Given the description of an element on the screen output the (x, y) to click on. 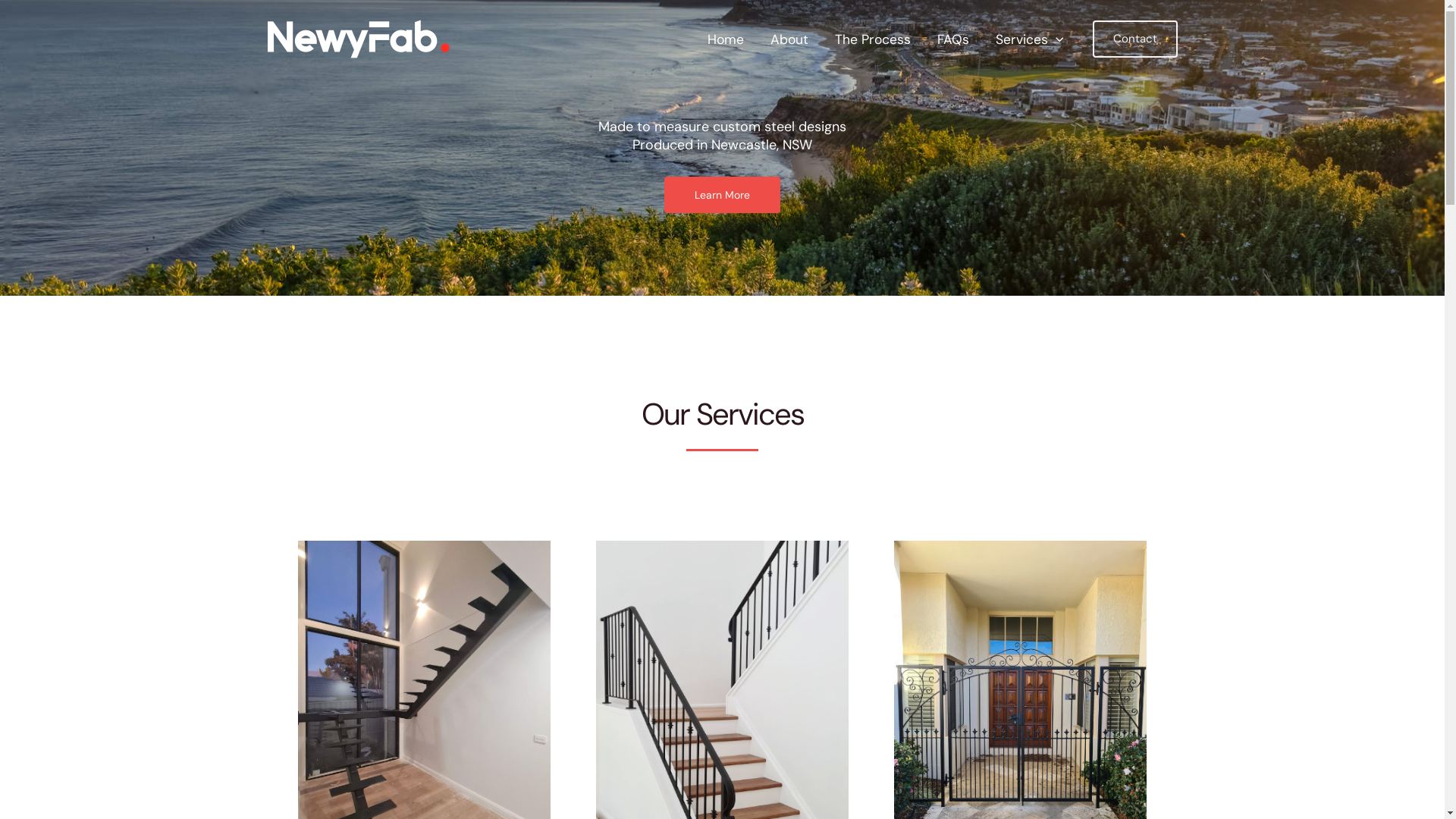
FAQs Element type: text (953, 38)
Contact Element type: text (1134, 38)
The Process Element type: text (872, 38)
Learn More Element type: text (722, 193)
Home Element type: text (724, 38)
About Element type: text (788, 38)
Services Element type: text (1029, 38)
